Given the description of an element on the screen output the (x, y) to click on. 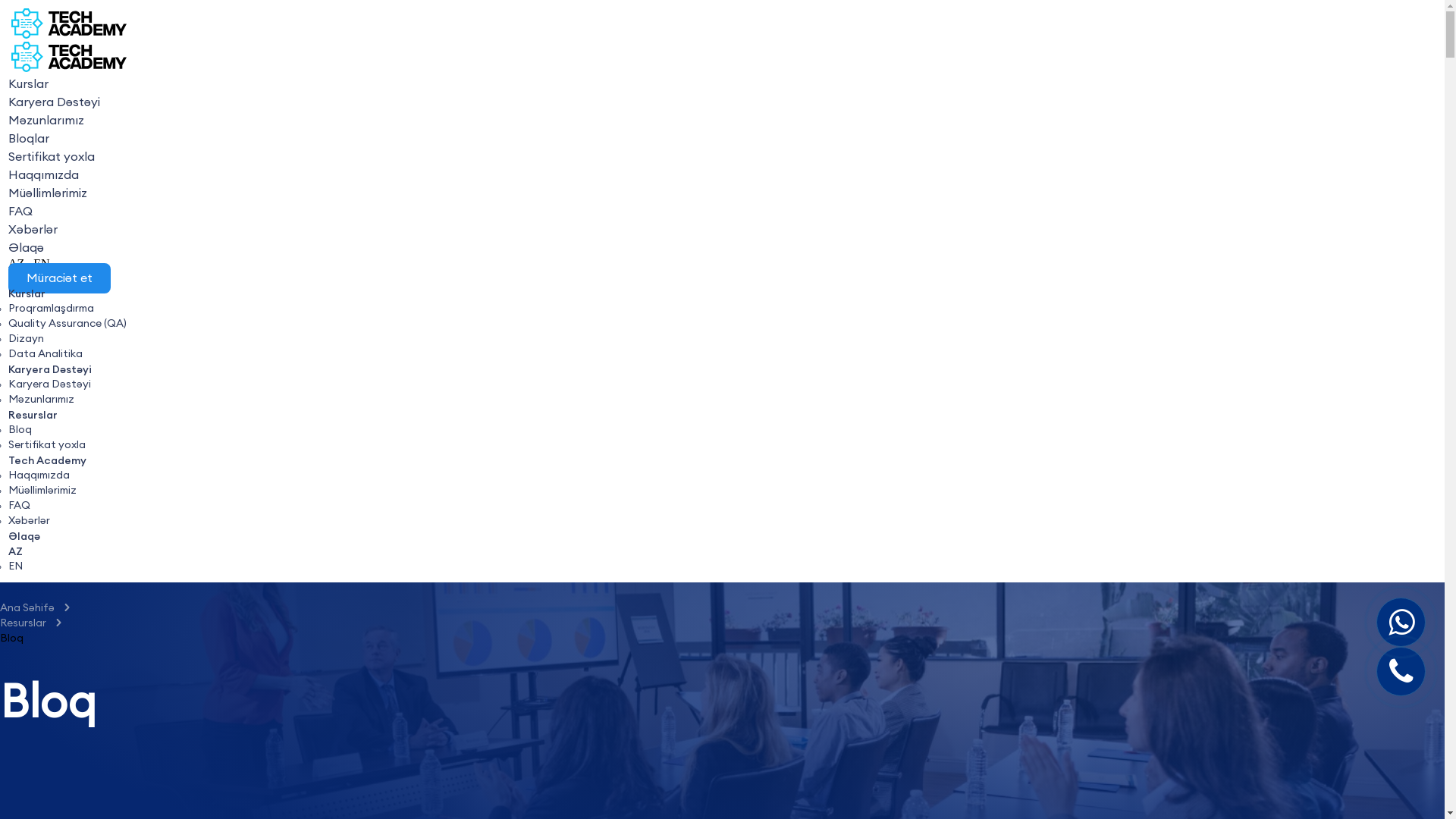
Tech Academy Element type: text (47, 460)
EN Element type: text (15, 566)
Bloqlar Element type: text (28, 138)
Data Analitika Element type: text (45, 353)
Sertifikat yoxla Element type: text (51, 156)
FAQ Element type: text (19, 505)
Quality Assurance (QA) Element type: text (67, 323)
Sertifikat yoxla Element type: text (46, 444)
Kurslar Element type: text (28, 84)
Resurslar Element type: text (26, 623)
AZ Element type: text (15, 551)
AZ Element type: text (16, 263)
FAQ Element type: text (20, 211)
Dizayn Element type: text (25, 338)
Resurslar Element type: text (32, 414)
EN Element type: text (41, 263)
Bloq Element type: text (19, 429)
Kurslar Element type: text (26, 293)
